Given the description of an element on the screen output the (x, y) to click on. 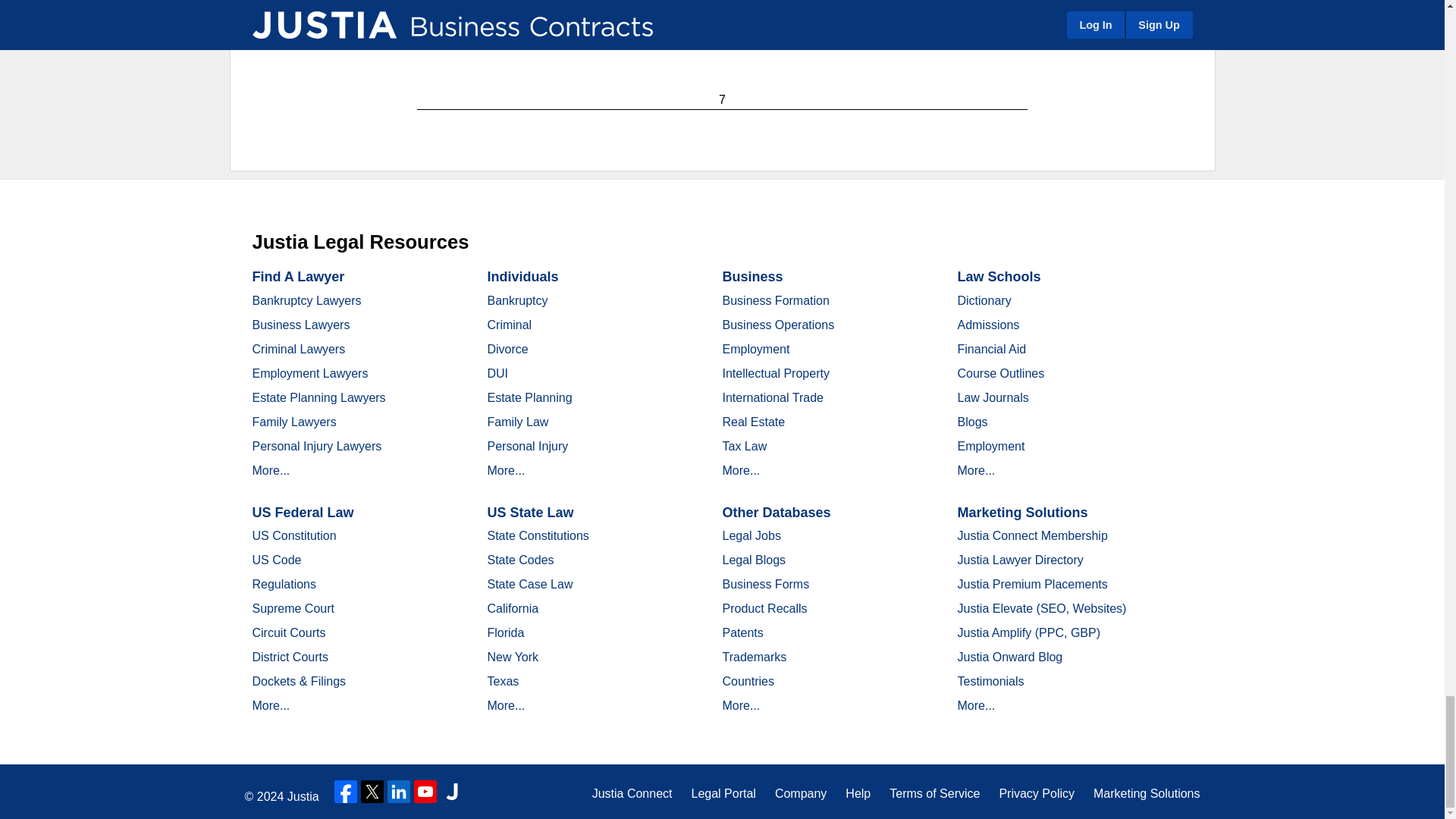
Personal Injury Lawyers (316, 445)
Criminal Lawyers (298, 349)
More... (270, 470)
Estate Planning Lawyers (318, 397)
Family Lawyers (293, 421)
Twitter (372, 791)
Justia Lawyer Directory (452, 791)
Bankruptcy Lawyers (306, 300)
LinkedIn (398, 791)
Facebook (345, 791)
Business Lawyers (300, 324)
YouTube (424, 791)
Find A Lawyer (297, 276)
Employment Lawyers (309, 373)
